Given the description of an element on the screen output the (x, y) to click on. 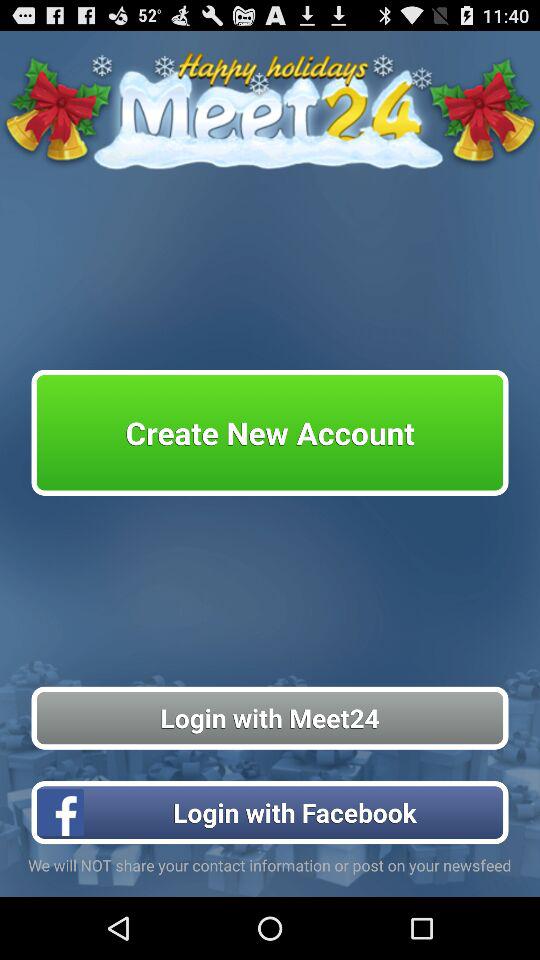
jump until the create new account (269, 432)
